Given the description of an element on the screen output the (x, y) to click on. 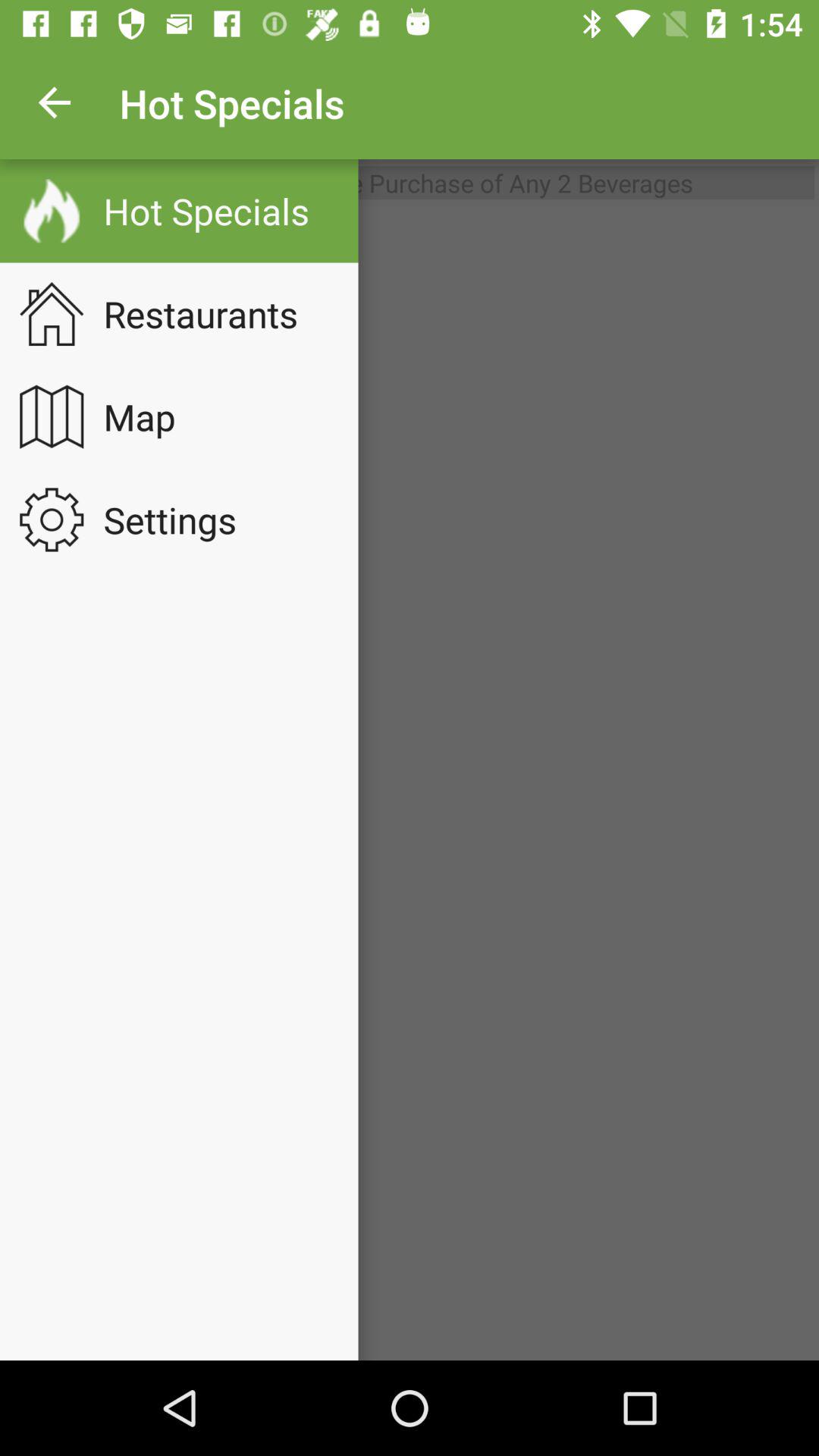
launch item above the entree bogo with icon (55, 103)
